Given the description of an element on the screen output the (x, y) to click on. 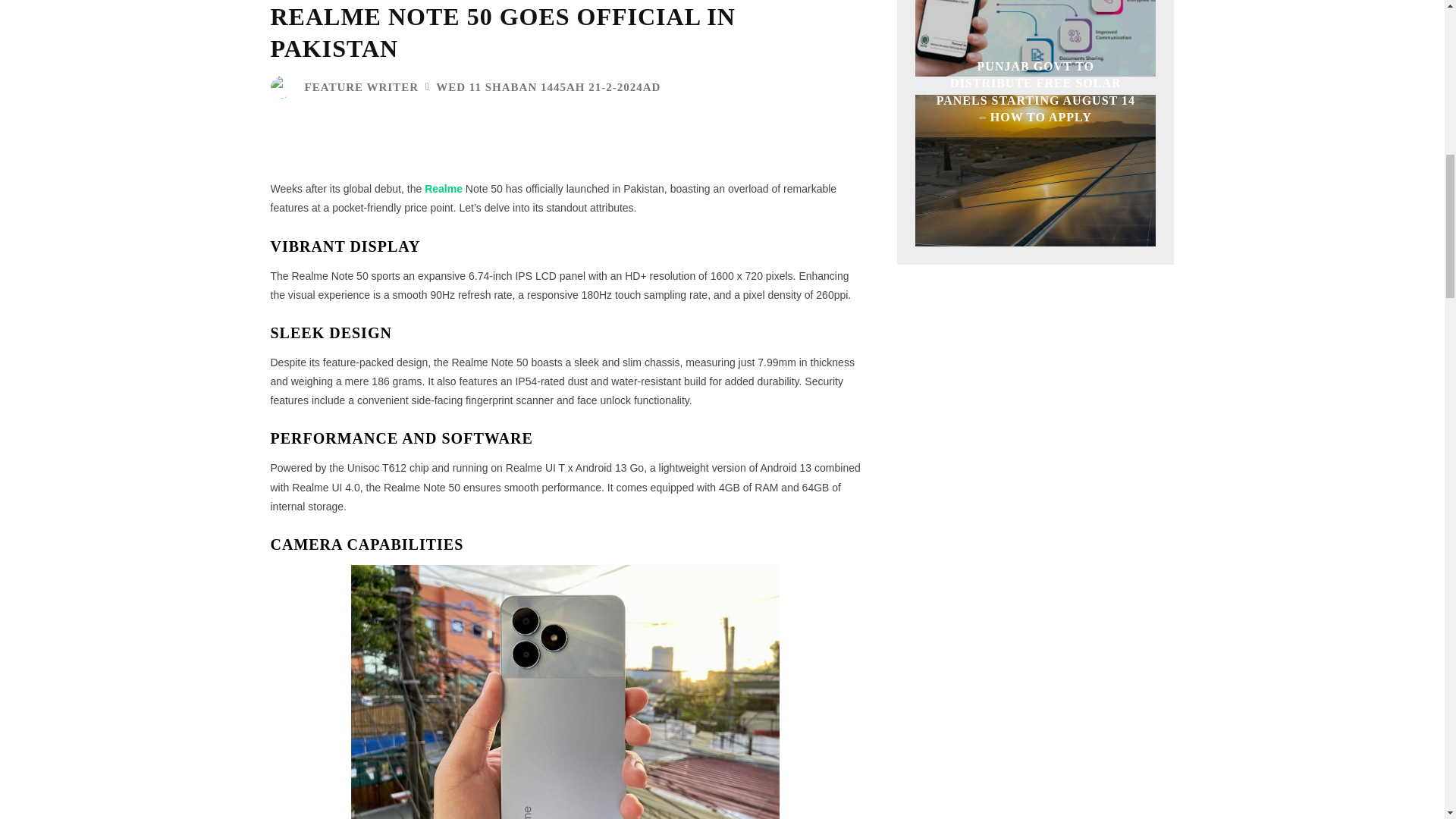
Feature Writer (284, 87)
